Given the description of an element on the screen output the (x, y) to click on. 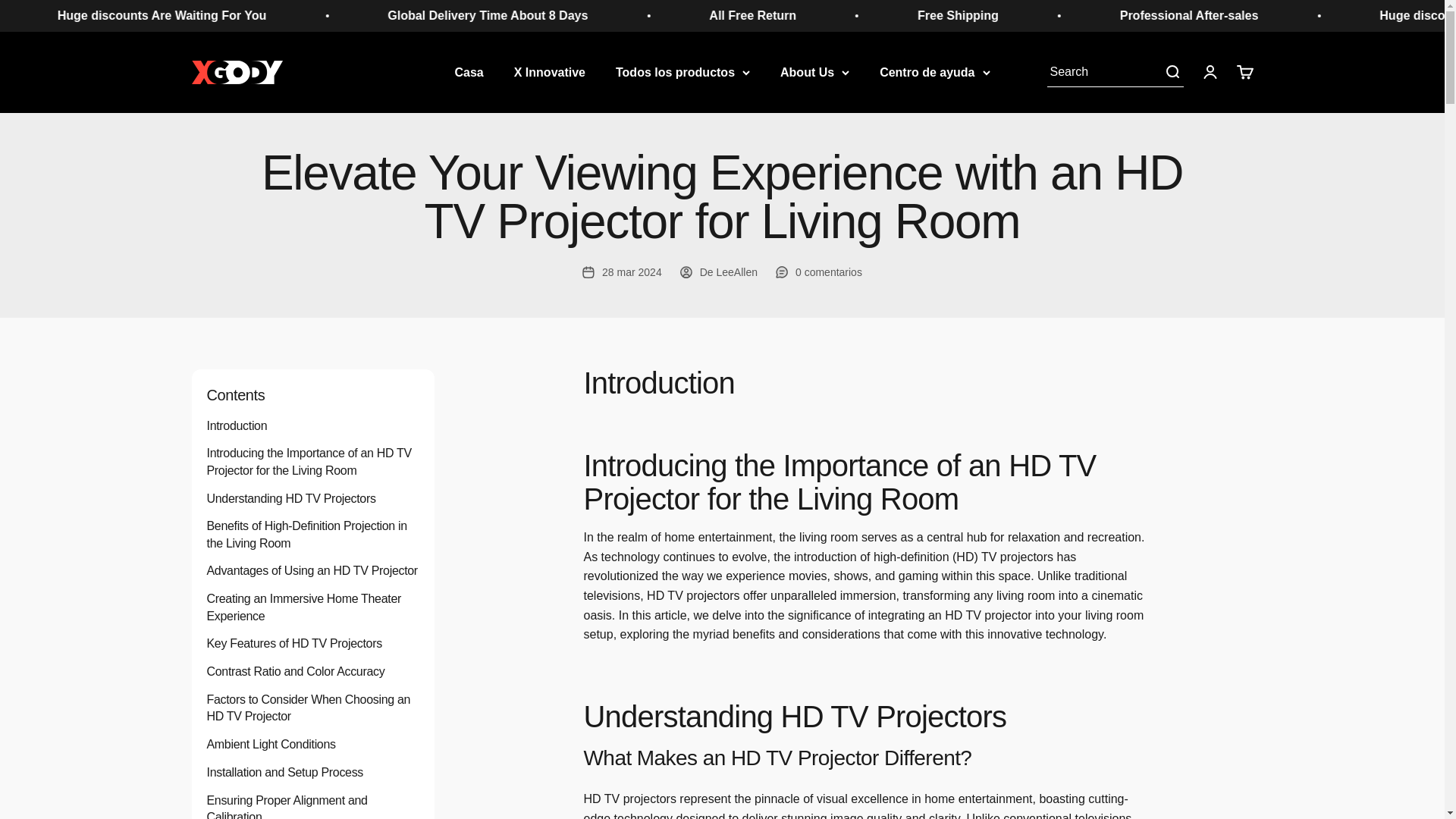
Casa (468, 71)
X Innovative (549, 71)
XGODY (1244, 71)
